Given the description of an element on the screen output the (x, y) to click on. 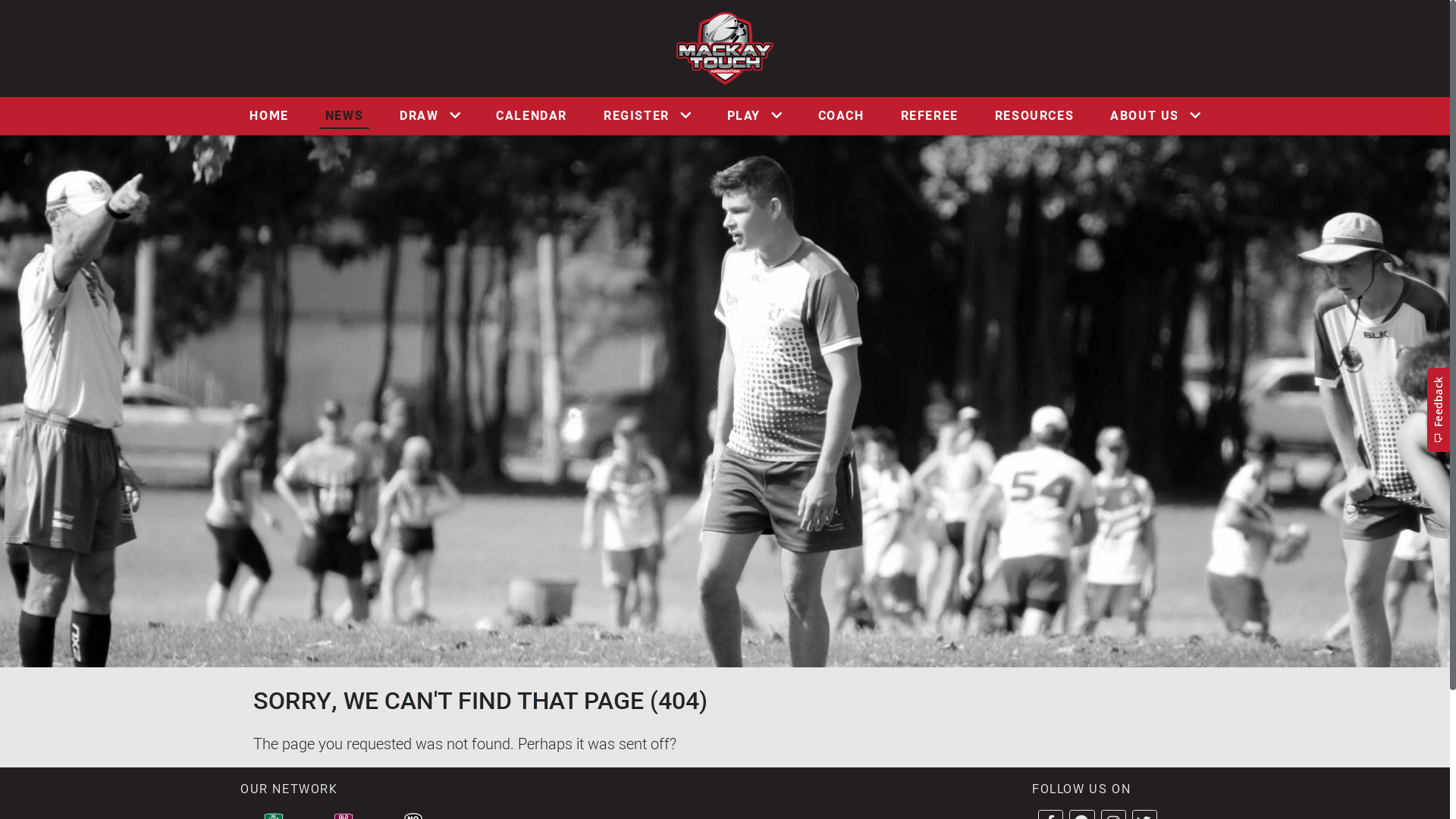
NEWS Element type: text (344, 115)
ABOUT US Element type: text (1154, 115)
PLAY Element type: text (753, 115)
HOME Element type: text (268, 115)
RESOURCES Element type: text (1033, 115)
DRAW Element type: text (429, 115)
REGISTER Element type: text (646, 115)
CALENDAR Element type: text (531, 115)
REFEREE Element type: text (929, 115)
COACH Element type: text (841, 115)
